Given the description of an element on the screen output the (x, y) to click on. 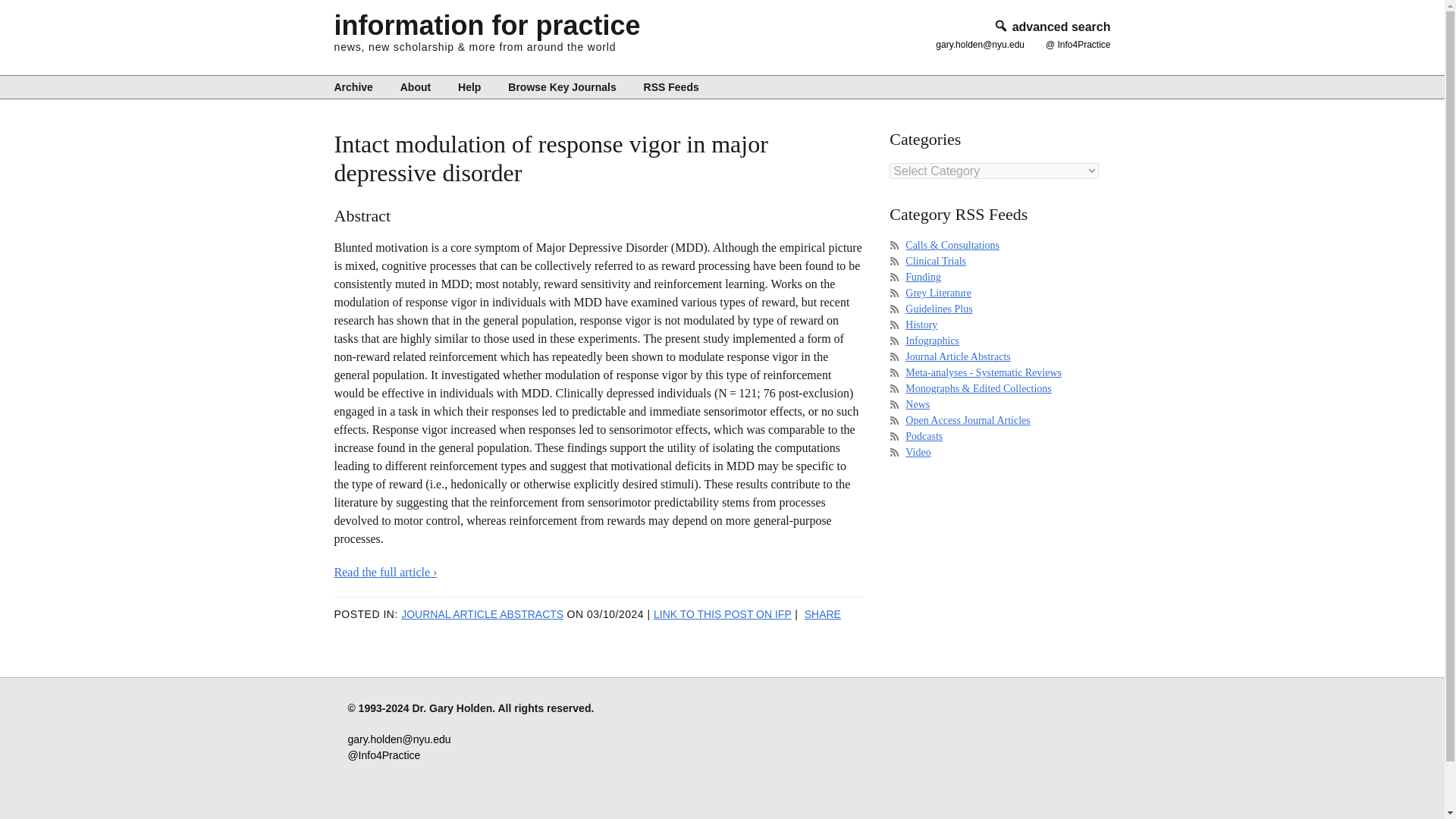
Funding (922, 276)
Guidelines Plus (938, 308)
Video (917, 451)
Open Access Journal Articles (967, 419)
Journal Article Abstracts (957, 356)
LINK TO THIS POST ON IFP (722, 613)
Help (469, 87)
Infographics (932, 340)
Browse Key Journals (561, 87)
Clinical Trials (935, 260)
Archive (358, 87)
Podcasts (923, 436)
News (917, 404)
